Given the description of an element on the screen output the (x, y) to click on. 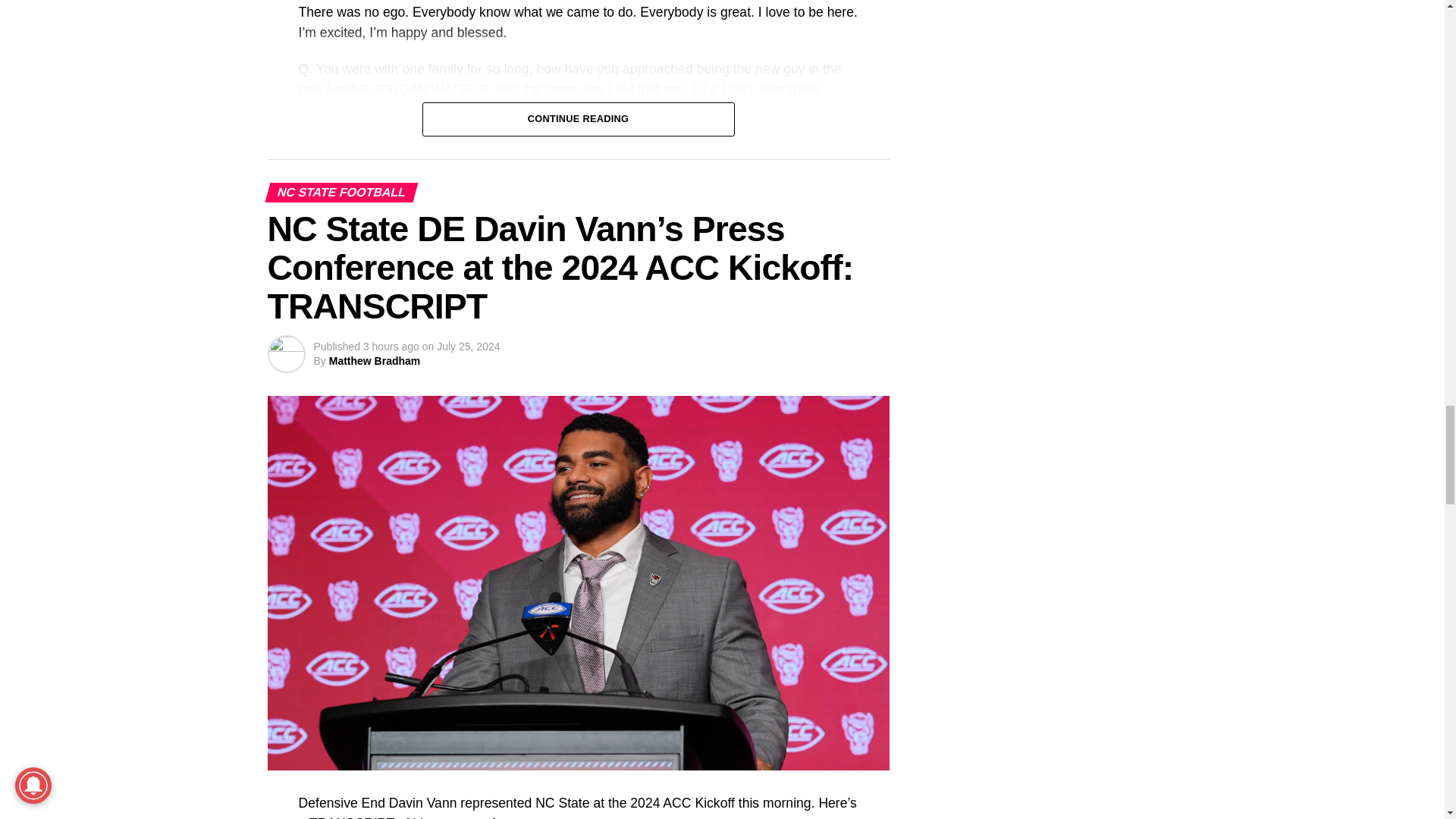
Posts by Matthew Bradham (374, 360)
